Given the description of an element on the screen output the (x, y) to click on. 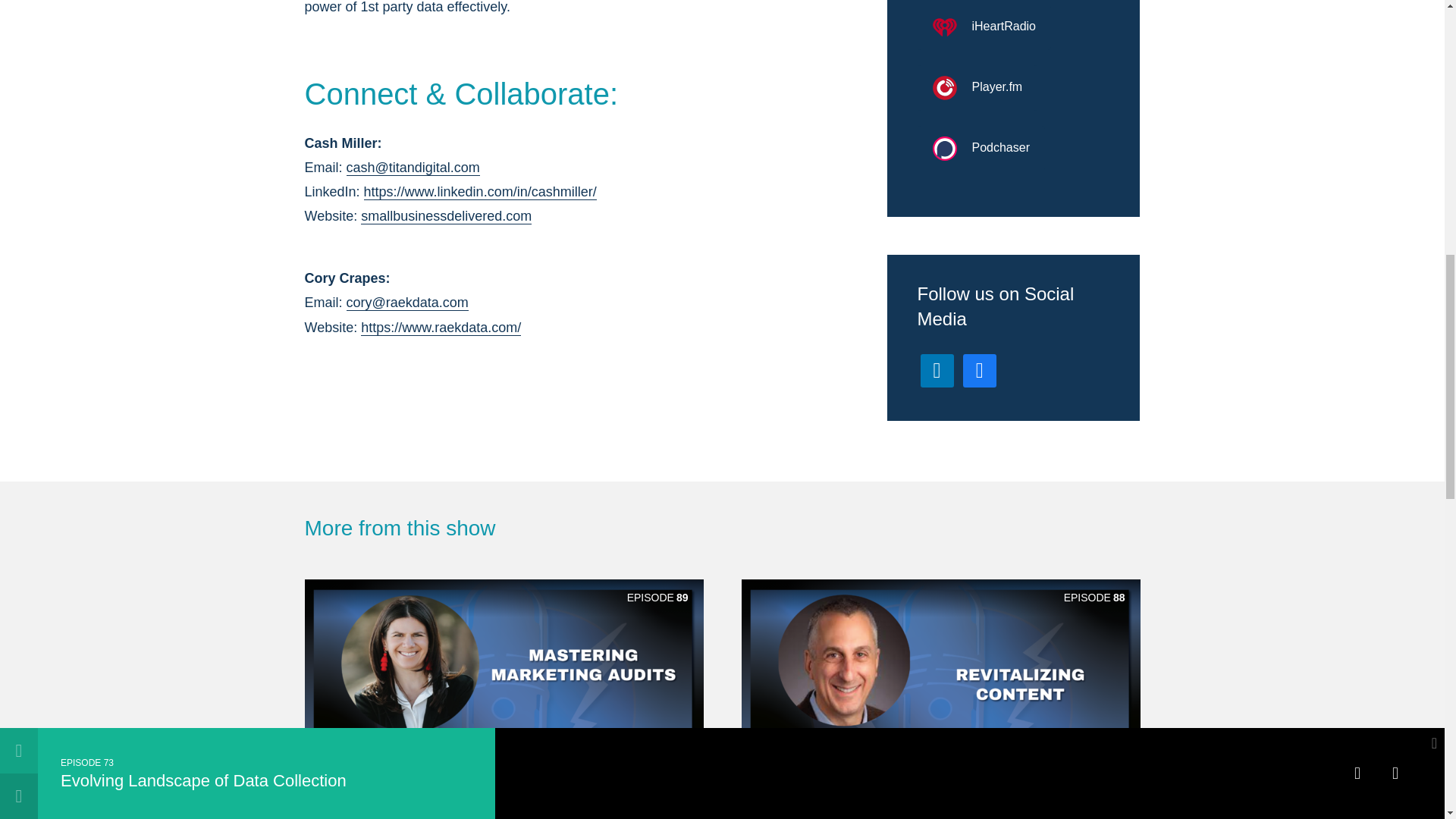
Facebook (978, 369)
